Given the description of an element on the screen output the (x, y) to click on. 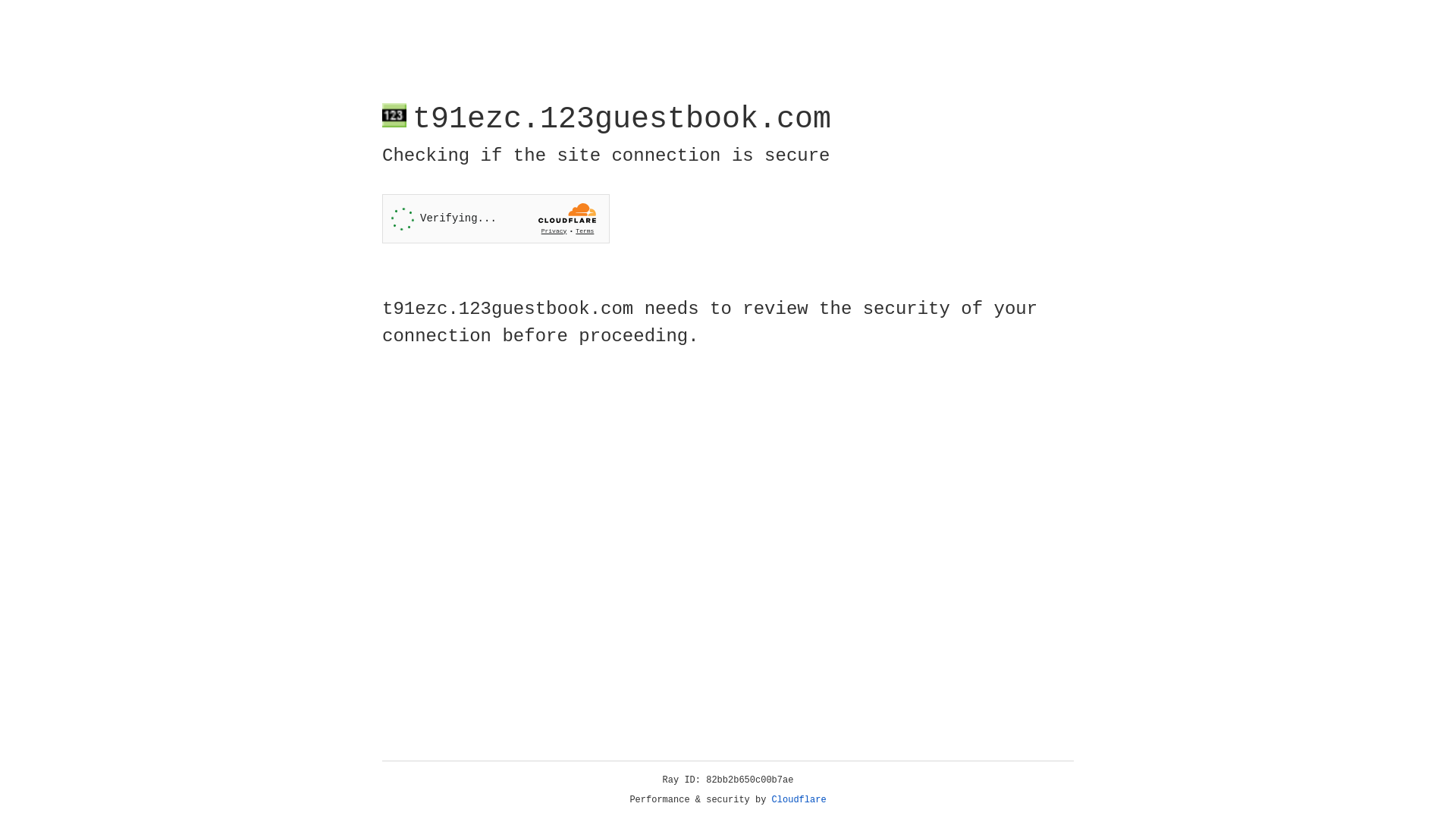
Widget containing a Cloudflare security challenge Element type: hover (495, 218)
Cloudflare Element type: text (798, 799)
